Given the description of an element on the screen output the (x, y) to click on. 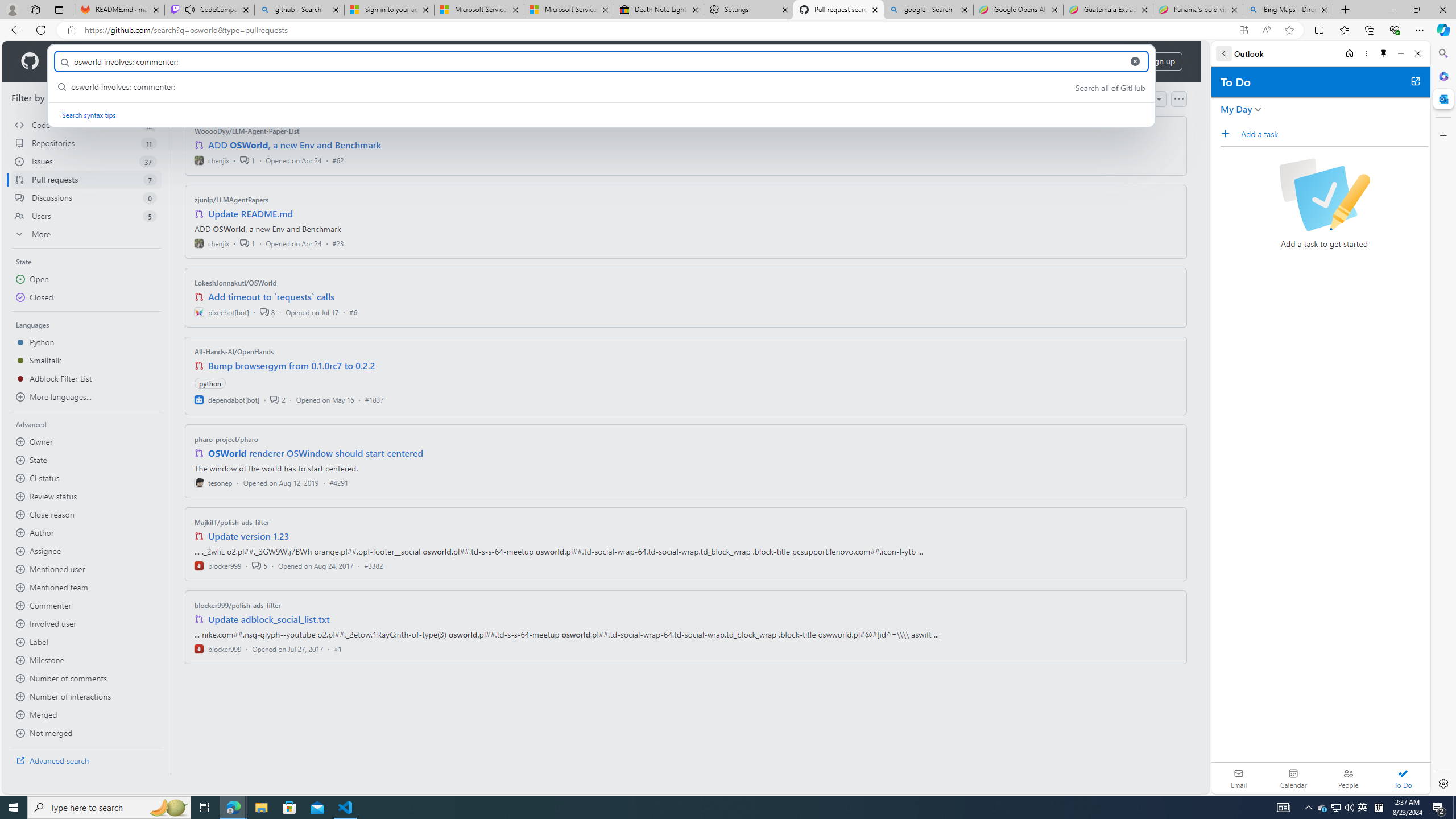
People (1347, 777)
Checkbox with a pencil (1324, 194)
#23 (337, 242)
#1837 (374, 398)
#3382 (373, 565)
Update adblock_social_list.txt (269, 619)
Advanced search (86, 760)
Google Opens AI Academy for Startups - Nearshore Americas (1018, 9)
